Given the description of an element on the screen output the (x, y) to click on. 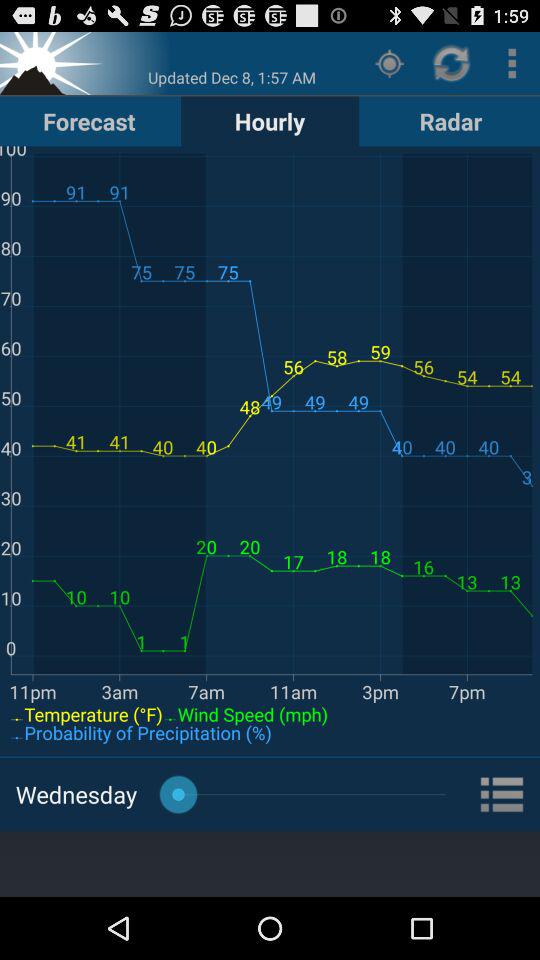
tap icon at the bottom right corner (503, 794)
